Given the description of an element on the screen output the (x, y) to click on. 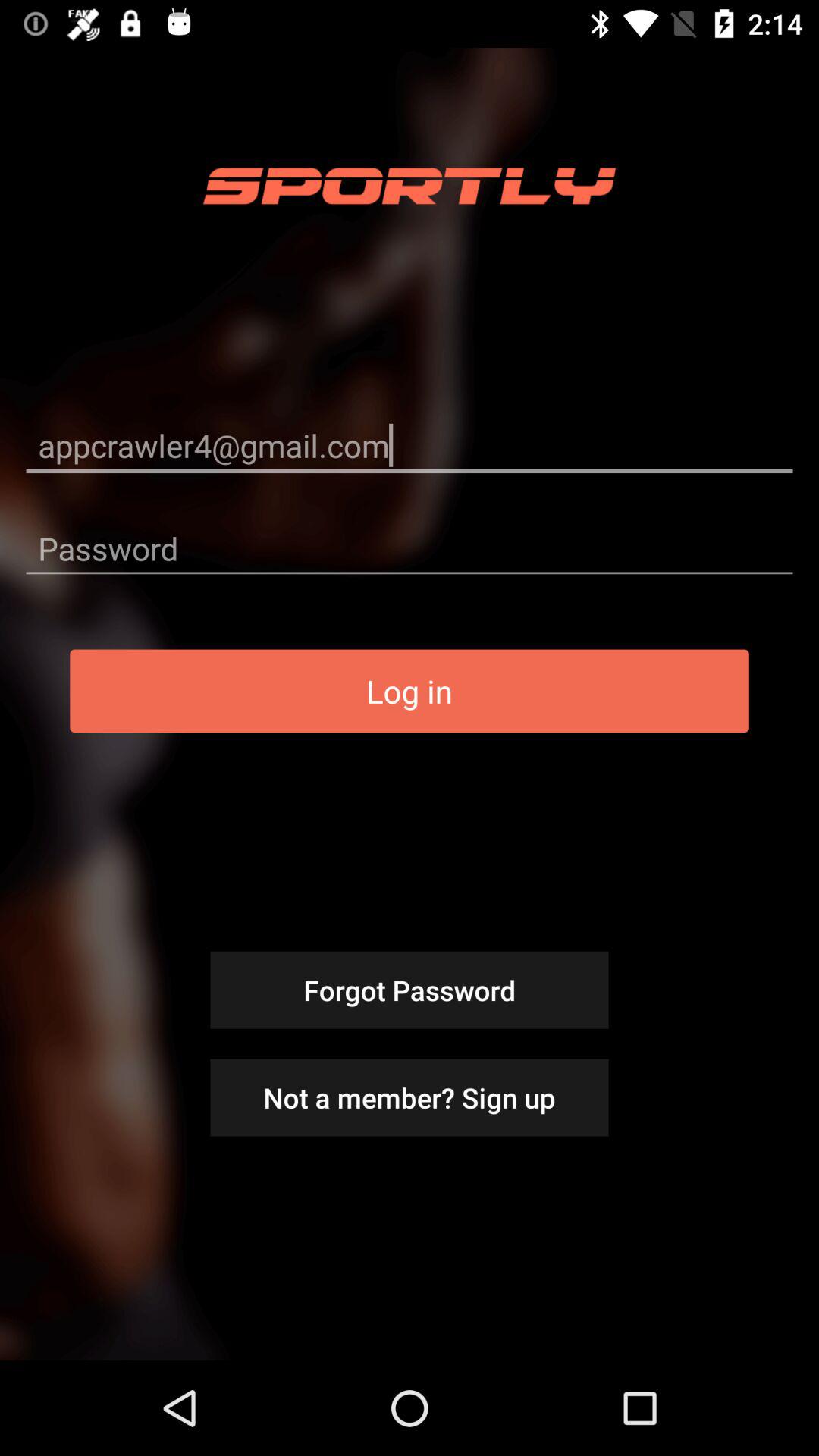
tap item above the not a member (409, 989)
